Given the description of an element on the screen output the (x, y) to click on. 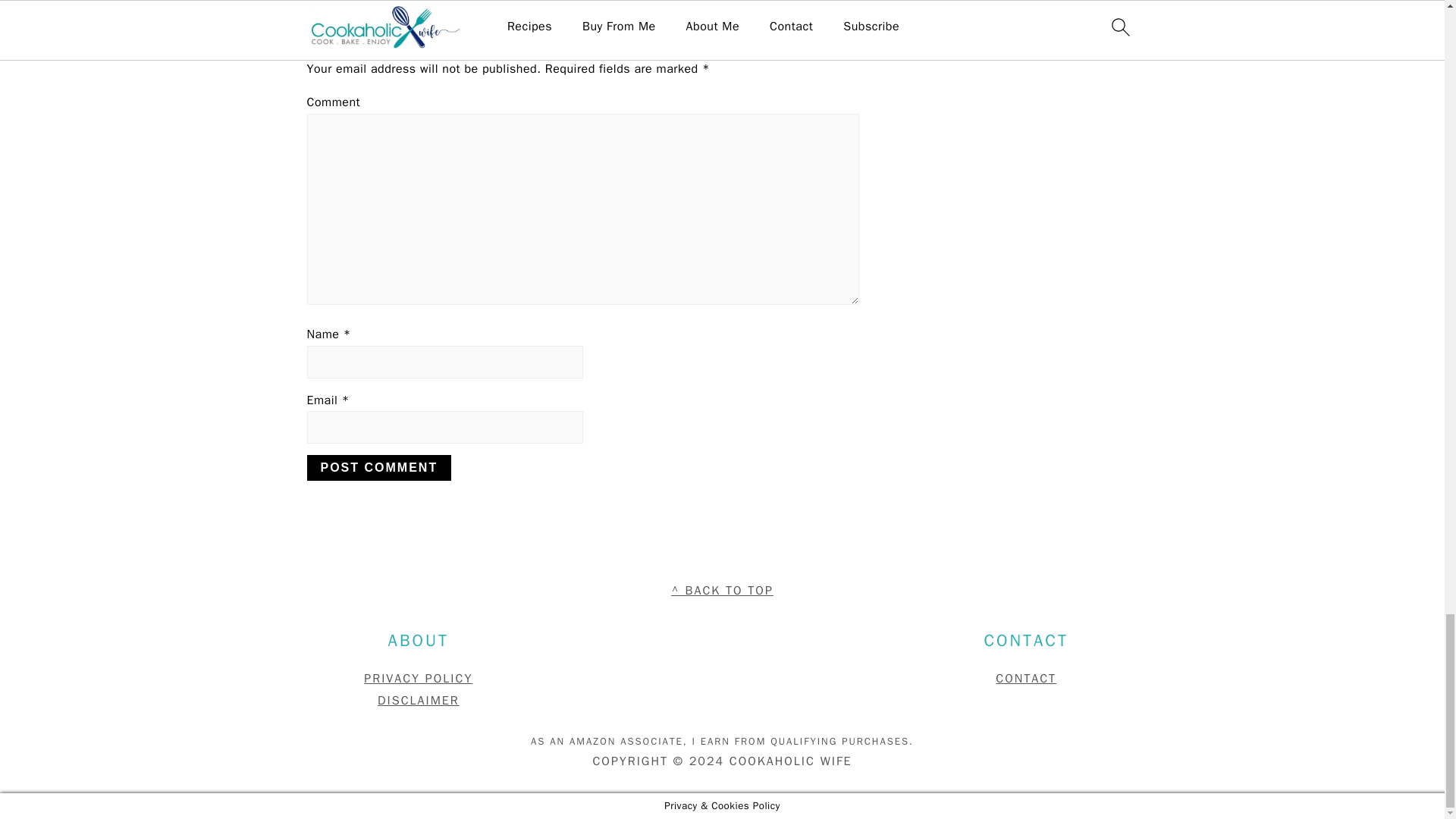
Post Comment (378, 467)
